Given the description of an element on the screen output the (x, y) to click on. 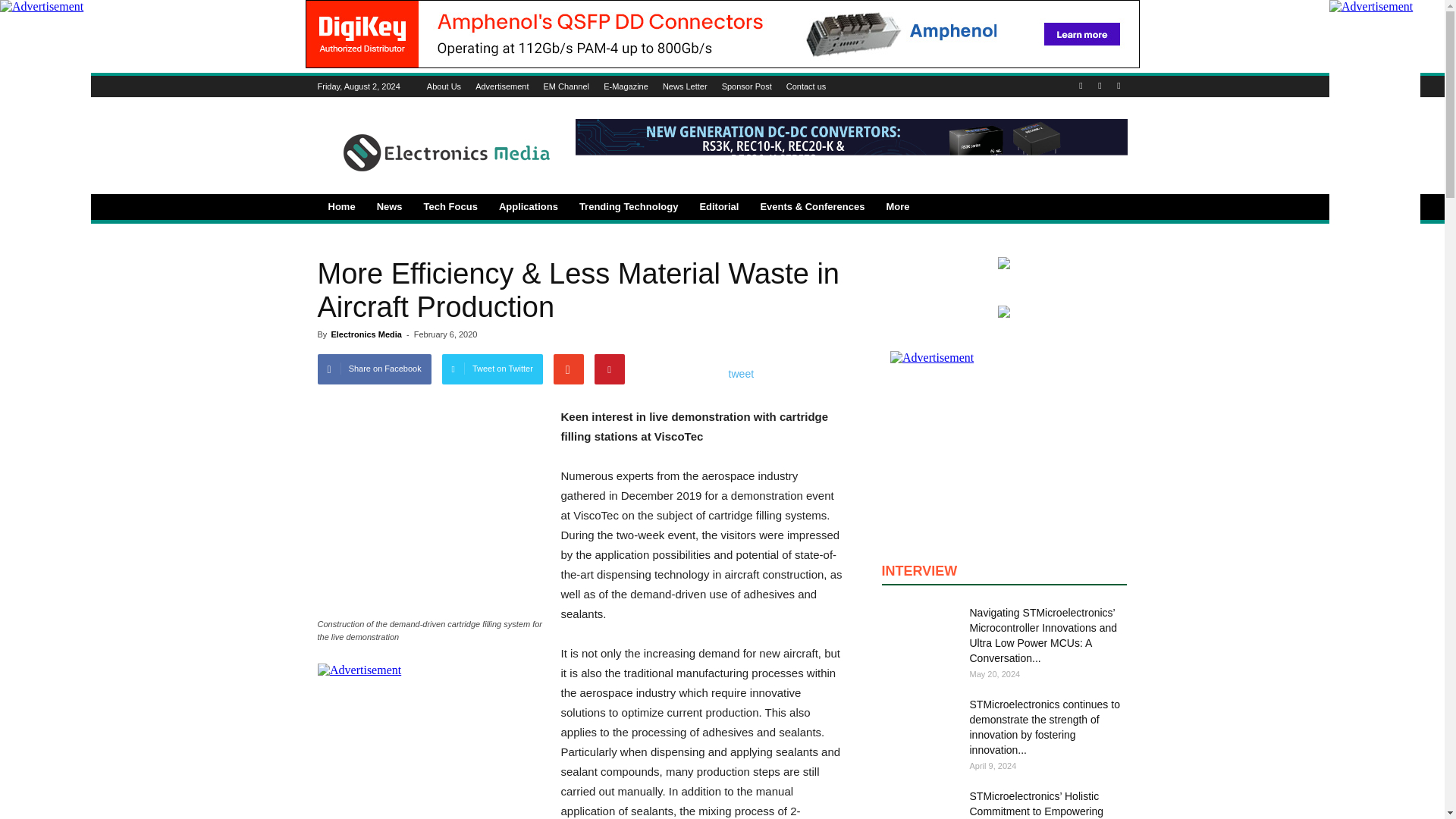
advertisement (430, 741)
